Given the description of an element on the screen output the (x, y) to click on. 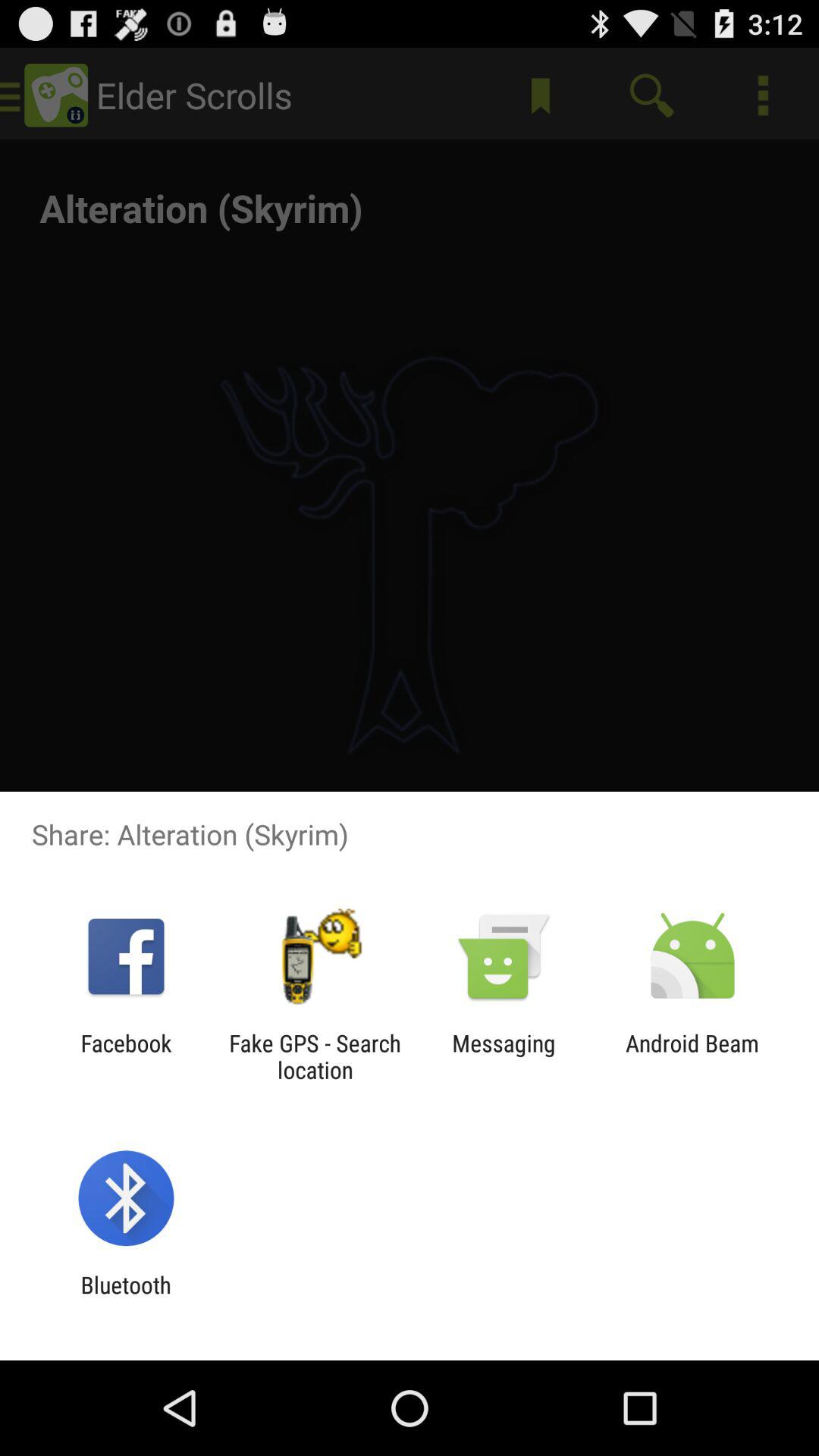
turn off the item next to messaging app (314, 1056)
